Given the description of an element on the screen output the (x, y) to click on. 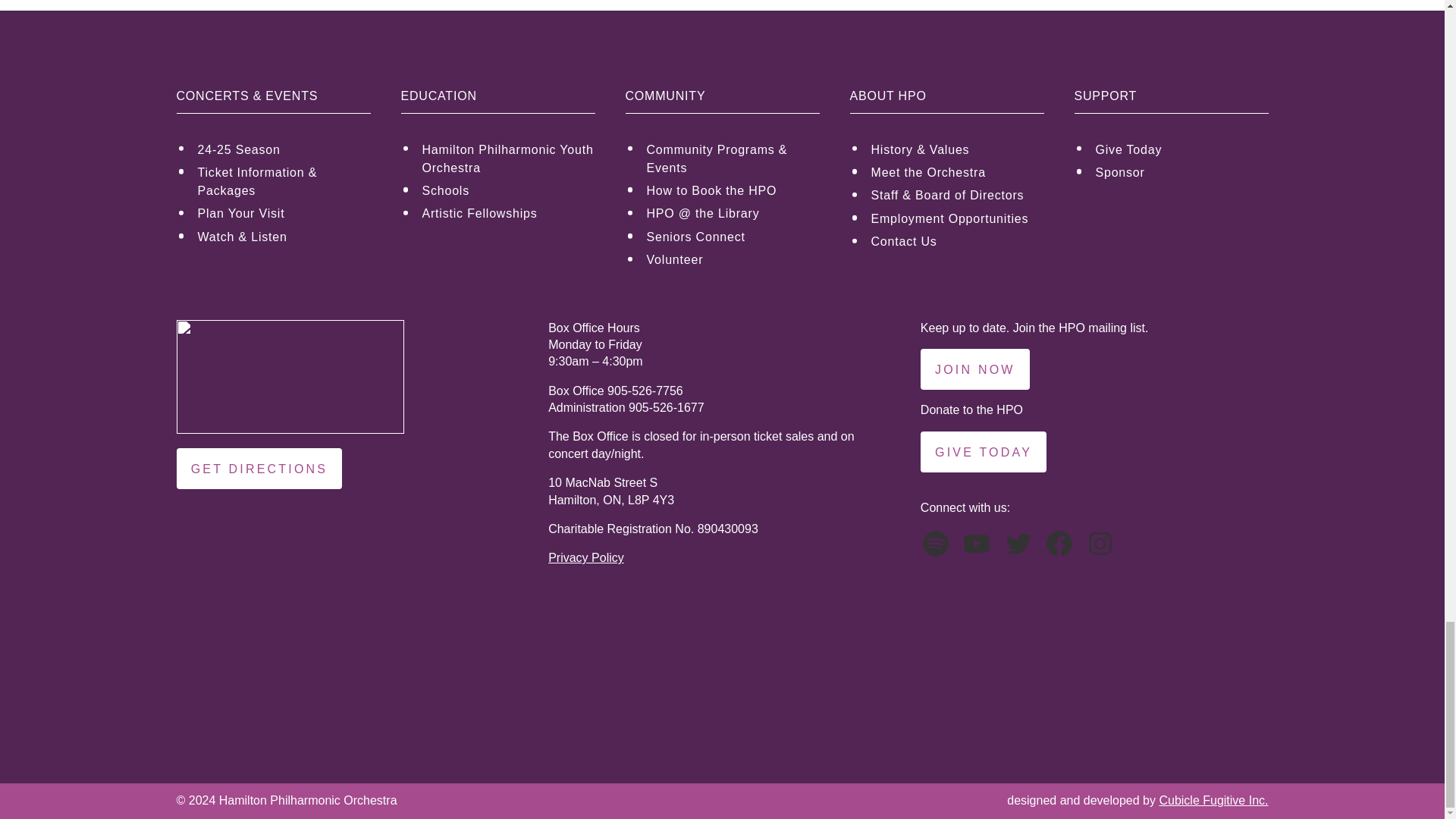
Canada Council for the Arts (1142, 667)
City of Hamilton (581, 667)
Incite Foundation for the Arts (301, 667)
Ontario Arts Council (861, 667)
